Given the description of an element on the screen output the (x, y) to click on. 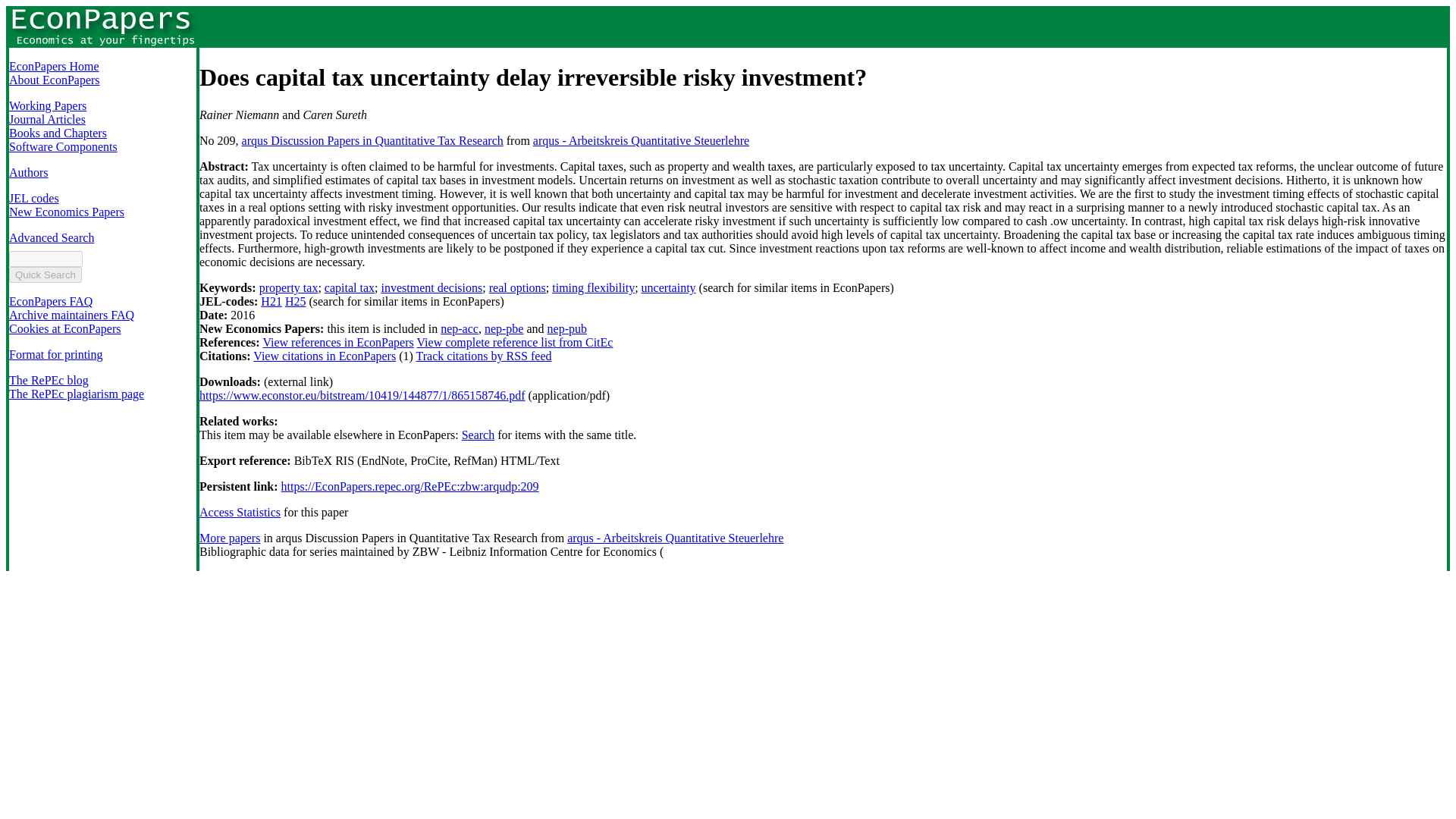
About EconPapers (54, 79)
View citations in EconPapers (324, 355)
capital tax (349, 287)
property tax (288, 287)
The RePEc blog (48, 379)
Quick Search (44, 274)
Quick Search (44, 274)
arqus - Arbeitskreis Quantitative Steuerlehre (675, 537)
More papers (229, 537)
Access Statistics (240, 512)
